Given the description of an element on the screen output the (x, y) to click on. 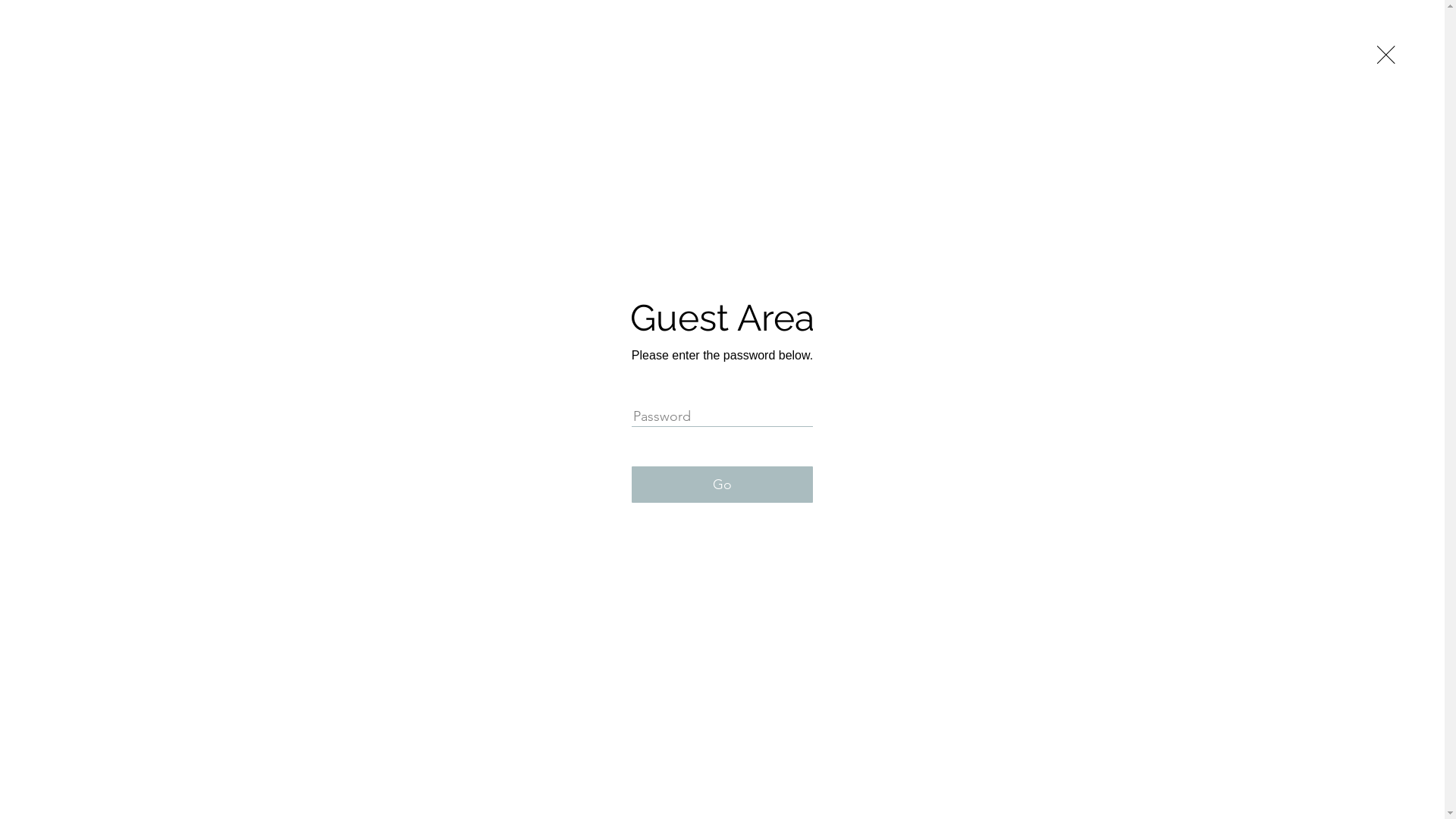
Go Element type: text (721, 484)
